Given the description of an element on the screen output the (x, y) to click on. 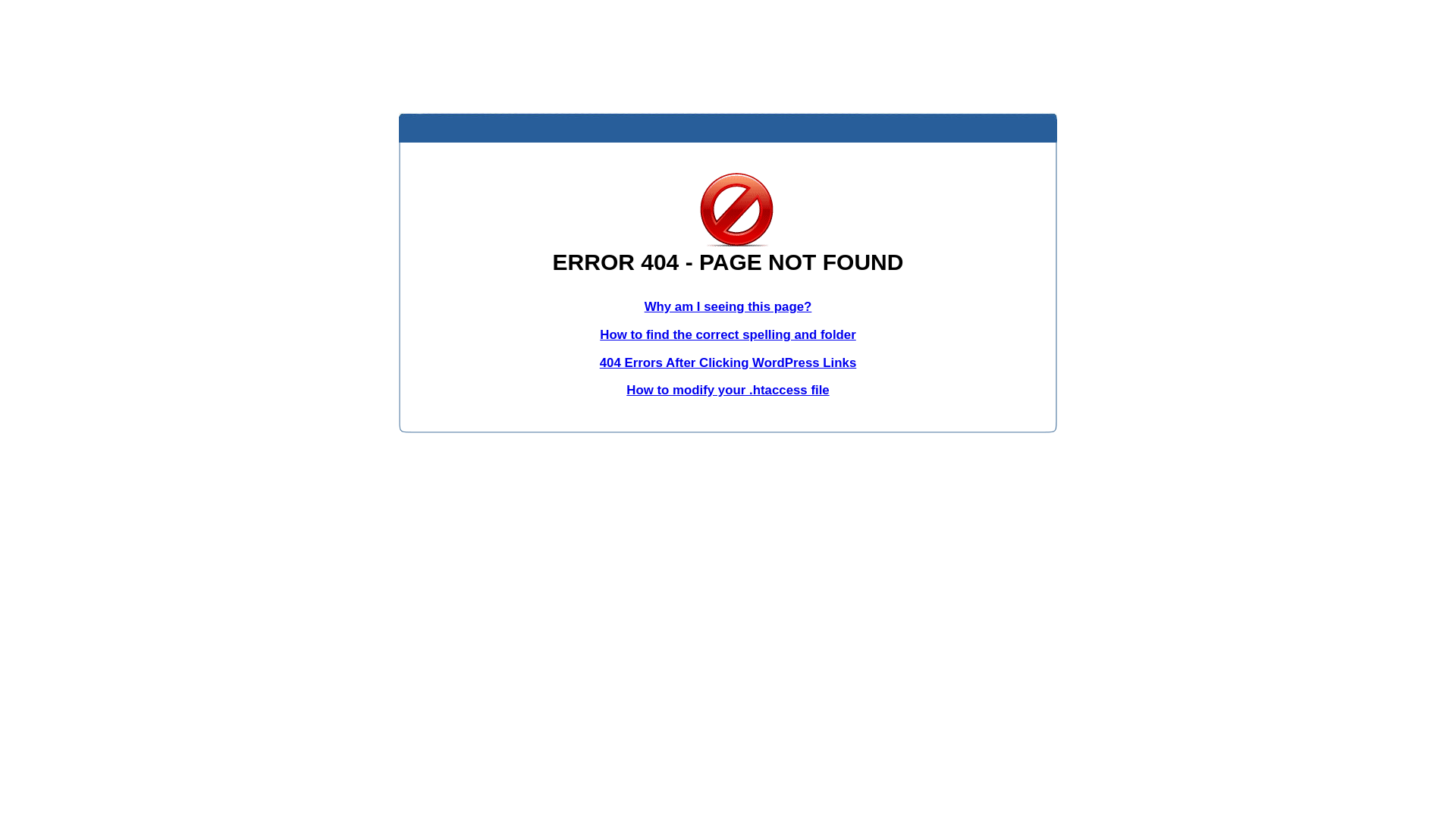
How to modify your .htaccess file Element type: text (727, 389)
How to find the correct spelling and folder Element type: text (727, 334)
Why am I seeing this page? Element type: text (728, 306)
404 Errors After Clicking WordPress Links Element type: text (727, 362)
